Given the description of an element on the screen output the (x, y) to click on. 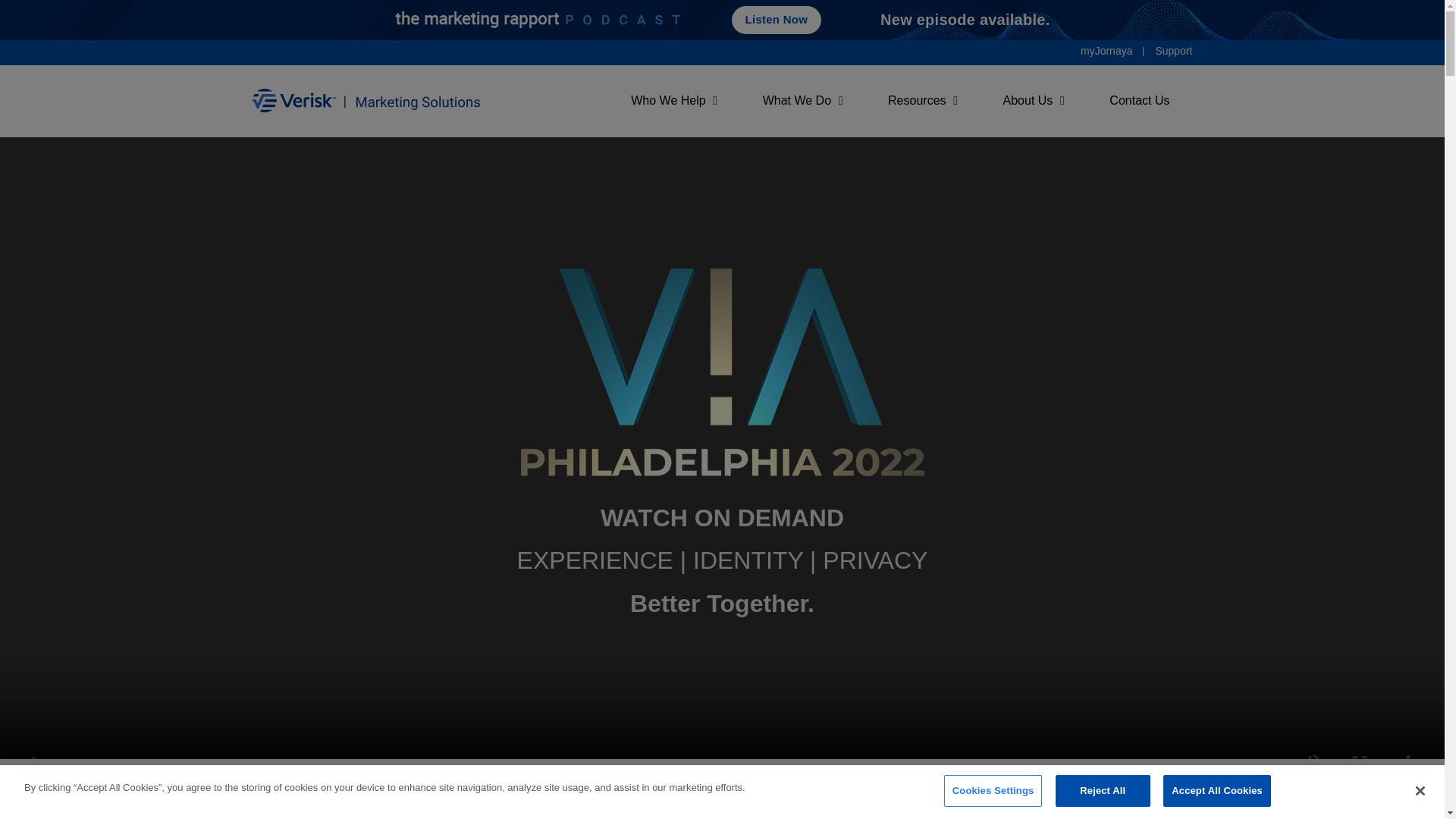
Resources (921, 100)
via-logo-philly-1 (721, 371)
About Us (1033, 100)
Contact Us (900, 100)
